Given the description of an element on the screen output the (x, y) to click on. 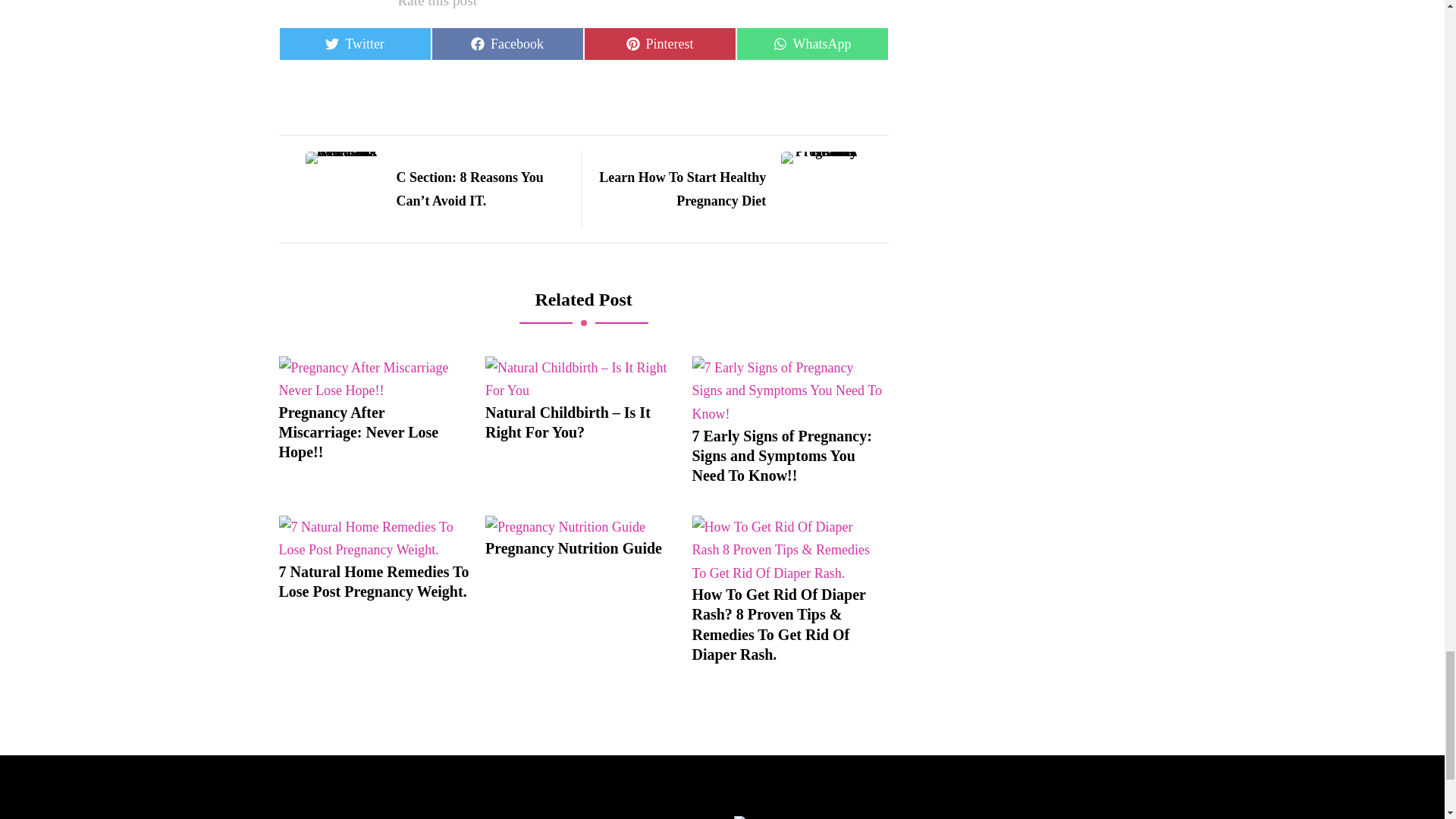
Pregnancy After Miscarriage: Never Lose Hope!! (374, 431)
Pregnancy Nutrition Guide 8 (564, 526)
Pregnancy After Miscarriage: Never Lose Hope!! 4 (506, 43)
Learn How To Start Healthy Pregnancy Diet (354, 43)
7 Natural Home Remedies To Lose Post Pregnancy Weight. 7 (374, 379)
